Given the description of an element on the screen output the (x, y) to click on. 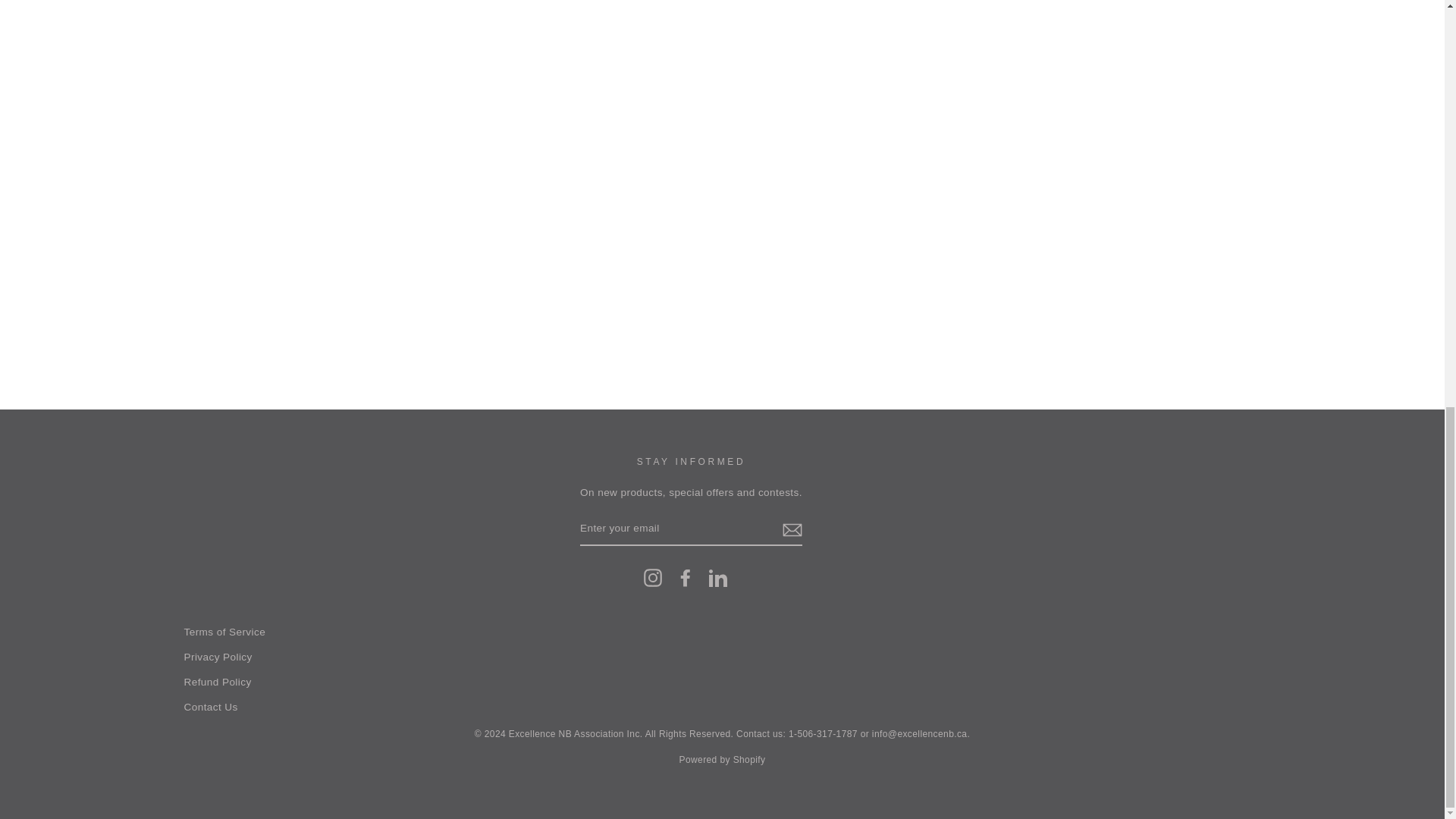
Excellence NB on Facebook (685, 577)
Excellence NB on LinkedIn (717, 577)
Excellence NB on Instagram (652, 577)
